Given the description of an element on the screen output the (x, y) to click on. 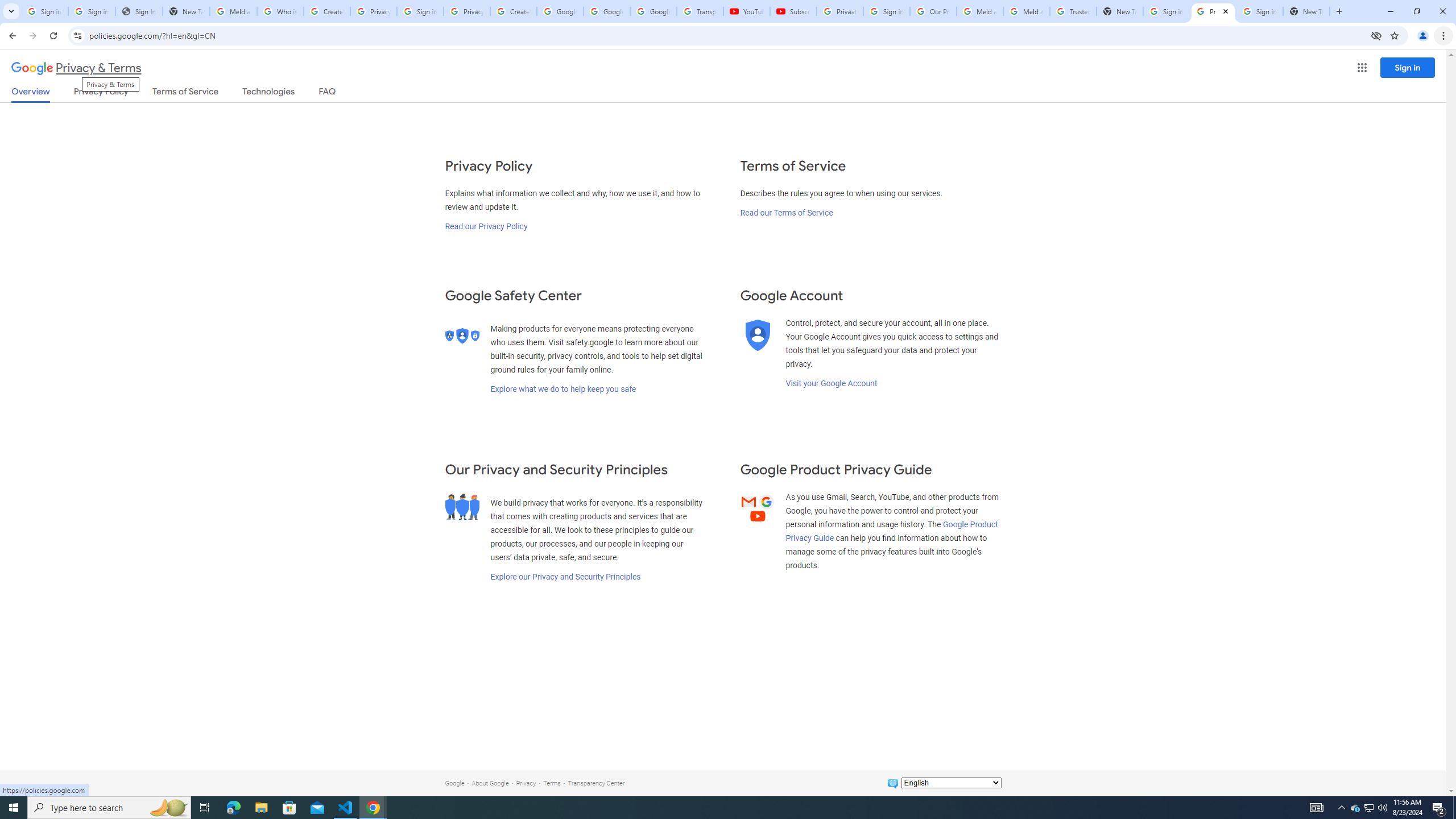
Third-party cookies blocked (1376, 35)
Subscriptions - YouTube (792, 11)
View site information (77, 35)
Address and search bar (726, 35)
Sign in - Google Accounts (91, 11)
Sign in - Google Accounts (1166, 11)
Google (454, 783)
Minimize (1390, 11)
About Google (490, 783)
Sign in (1407, 67)
